Given the description of an element on the screen output the (x, y) to click on. 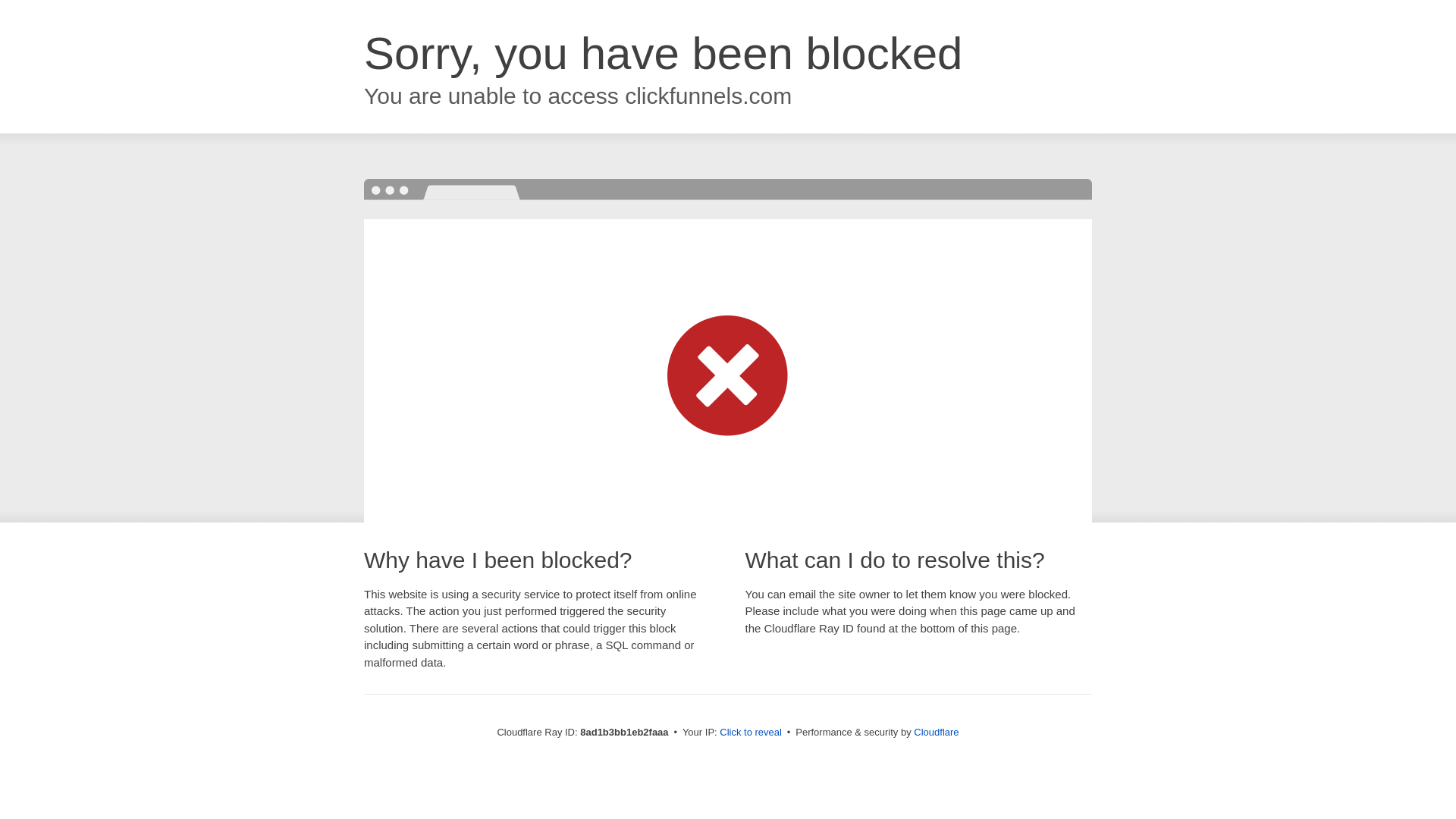
Click to reveal (750, 732)
Cloudflare (936, 731)
